Given the description of an element on the screen output the (x, y) to click on. 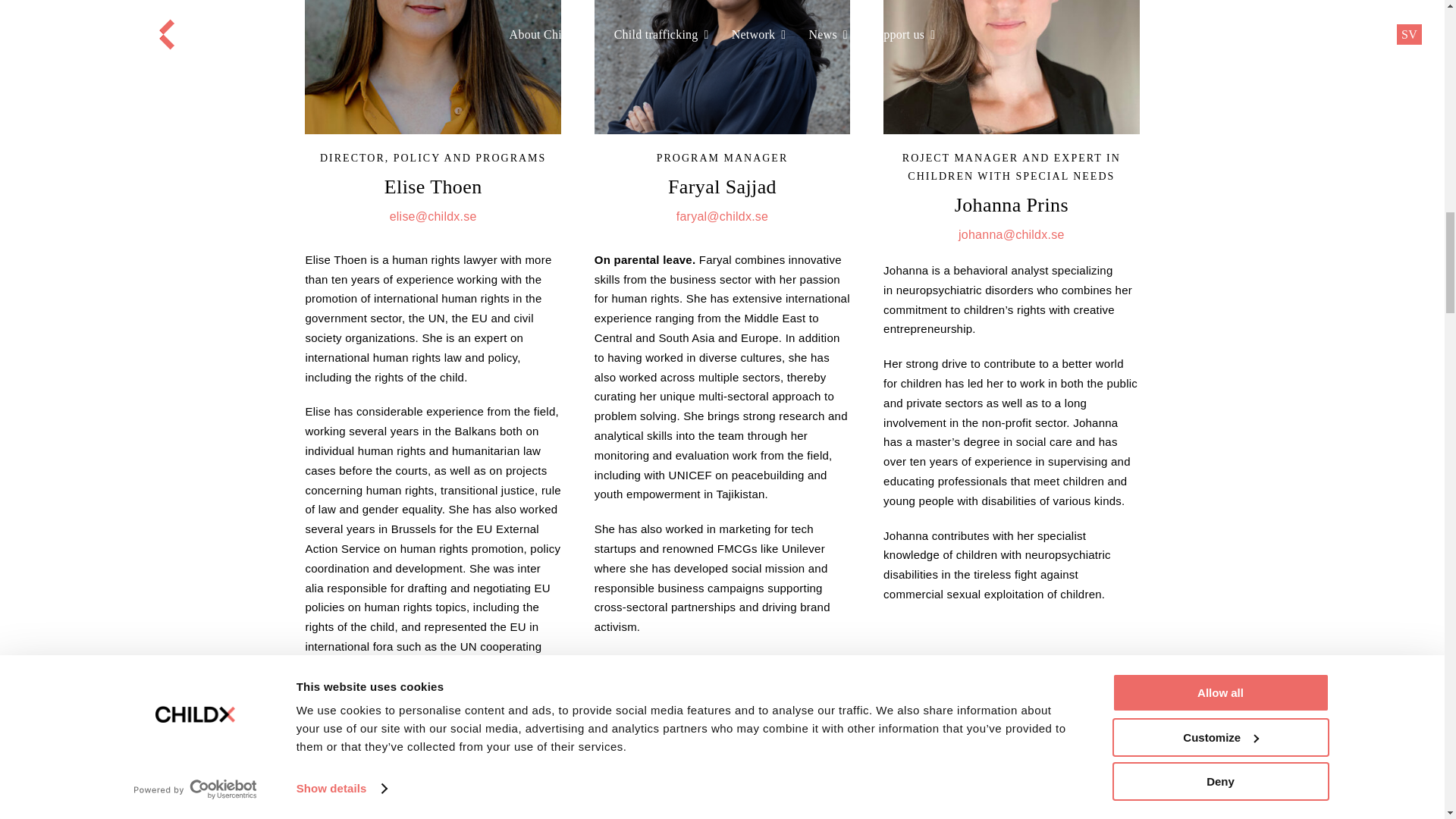
petra hemsida - ChildX (432, 783)
Faryal press - ChildX (722, 67)
hanna hemsida - ChildX (722, 783)
